Given the description of an element on the screen output the (x, y) to click on. 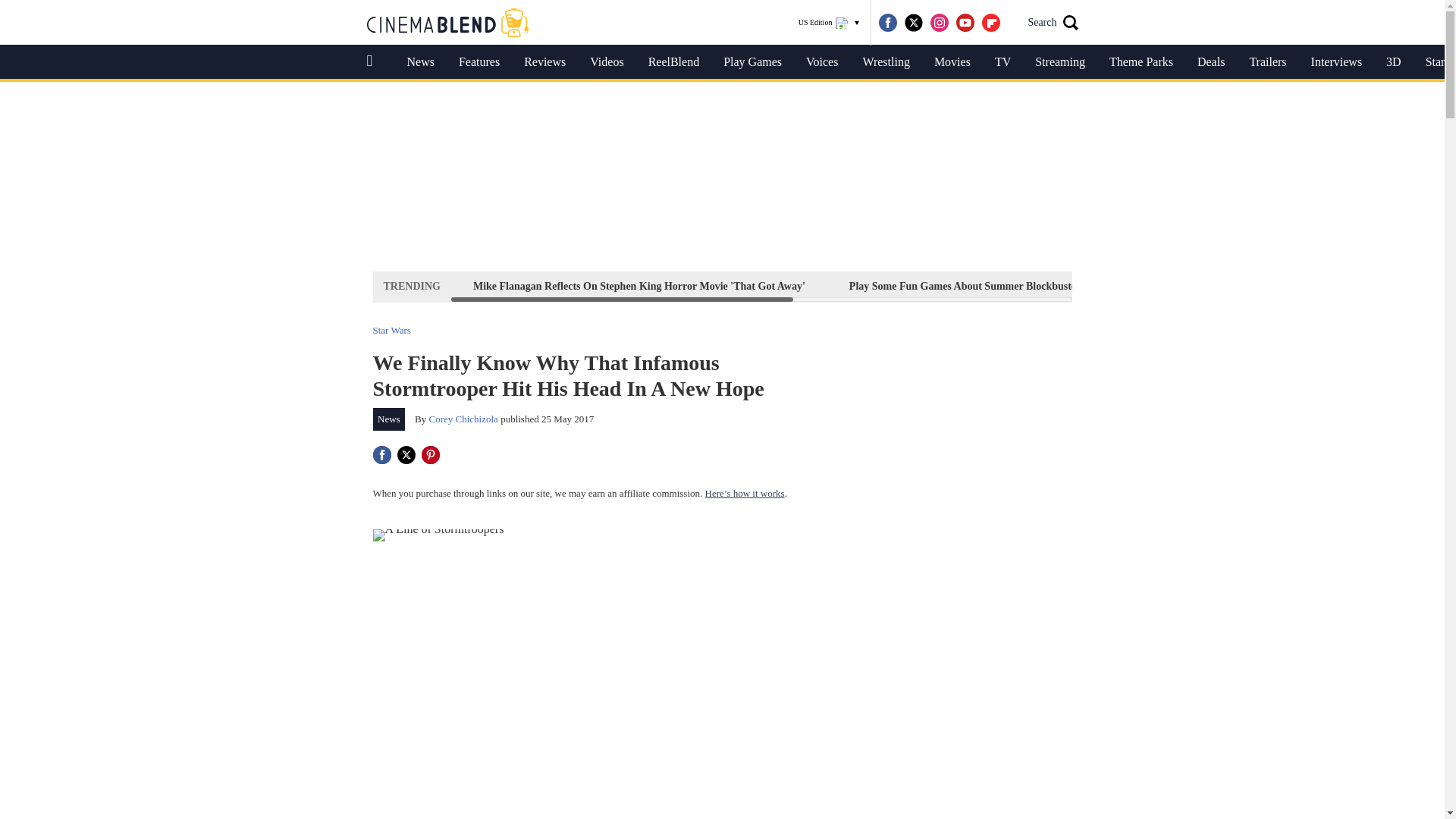
Videos (606, 61)
Interviews (1336, 61)
Voices (821, 61)
Upcoming Marvel Movies (1336, 286)
Star Wars (391, 329)
Theme Parks (1141, 61)
Trailers (1267, 61)
Deals (1210, 61)
ReelBlend (673, 61)
Movies (951, 61)
